Given the description of an element on the screen output the (x, y) to click on. 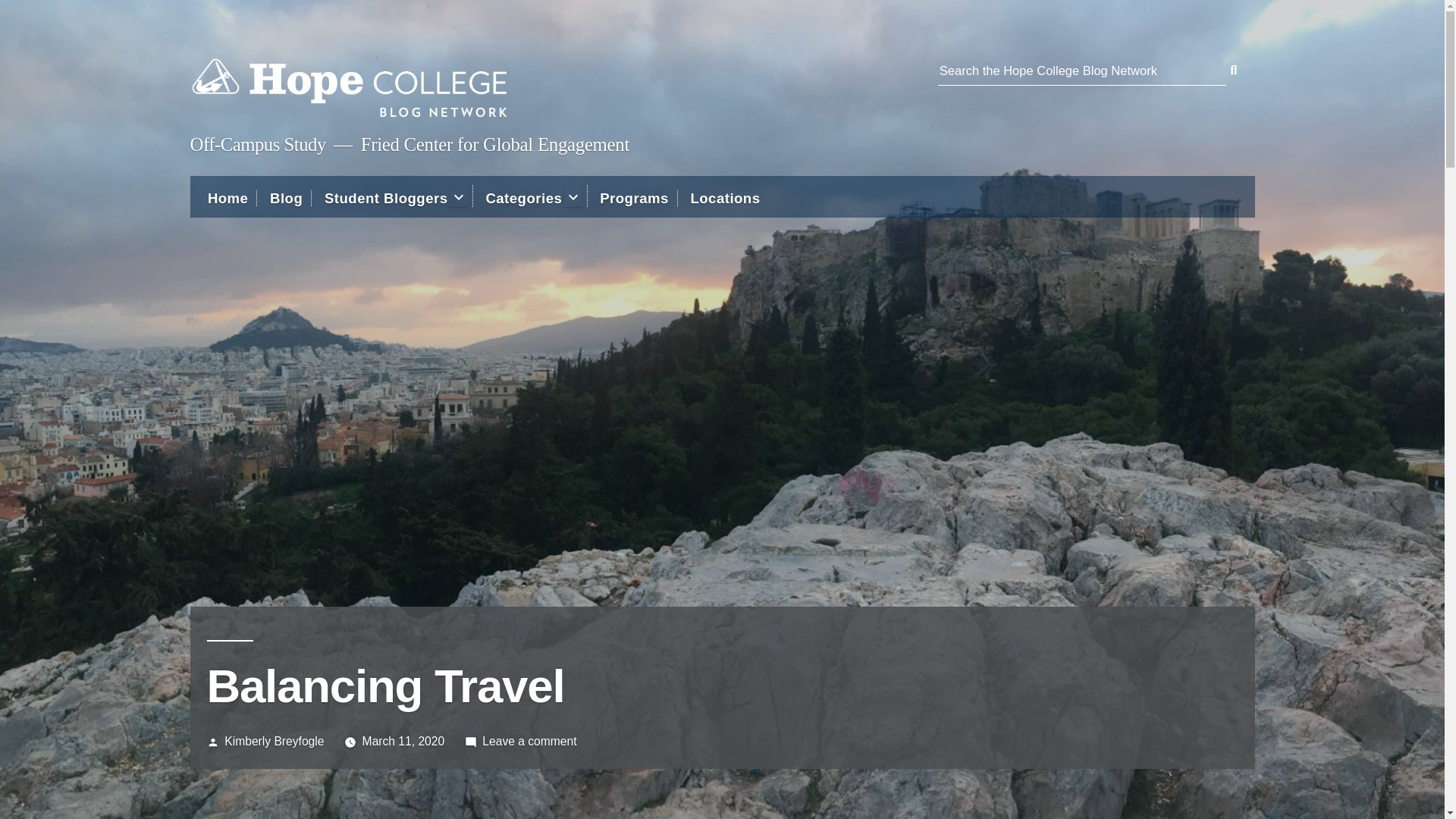
Categories (528, 740)
Kimberly Breyfogle (523, 198)
Blog (273, 740)
Locations (285, 198)
Off-Campus Study (725, 198)
Home (256, 144)
March 11, 2020 (228, 198)
Student Bloggers (403, 740)
Programs (386, 198)
